Given the description of an element on the screen output the (x, y) to click on. 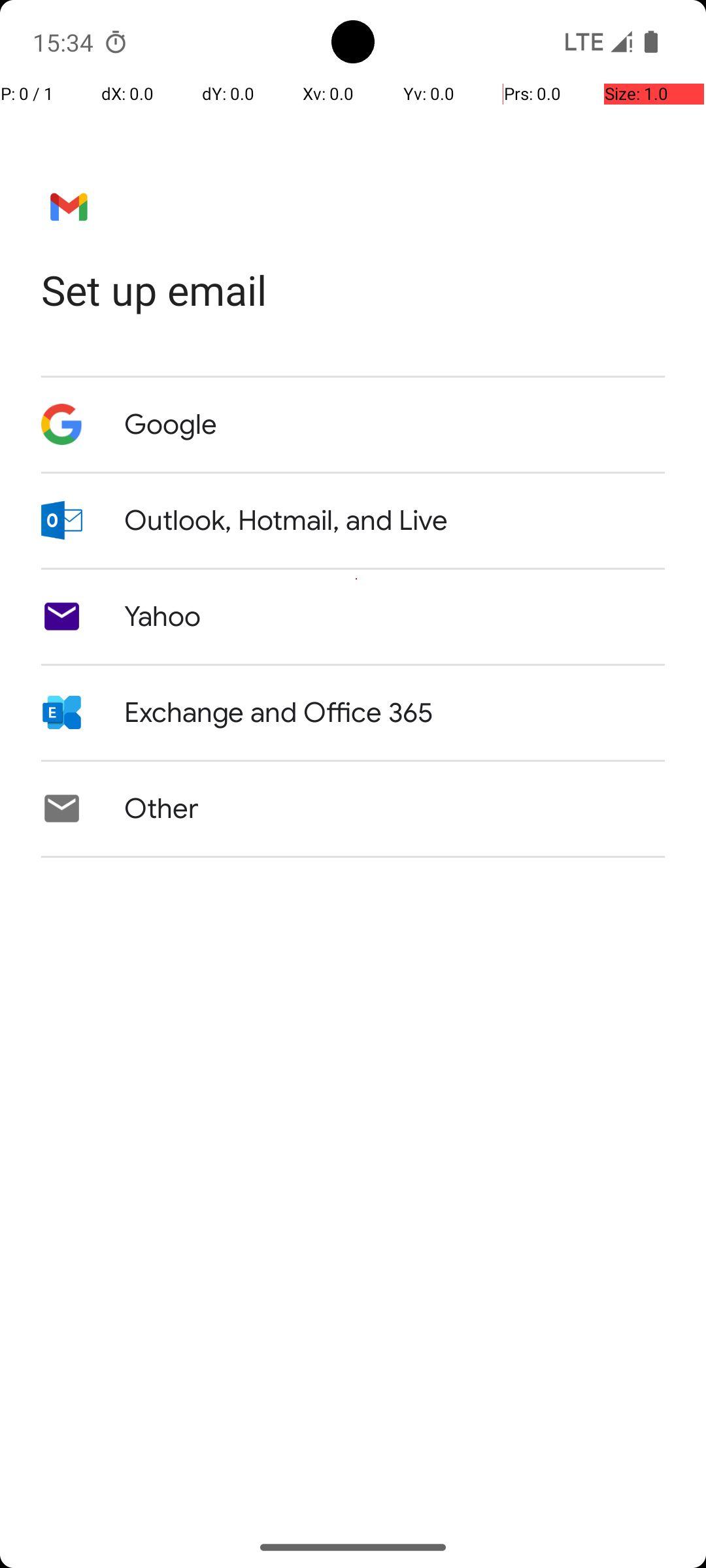
Set up email Element type: android.widget.TextView (352, 289)
Google Element type: android.widget.TextView (170, 424)
Outlook, Hotmail, and Live Element type: android.widget.TextView (286, 520)
Exchange and Office 365 Element type: android.widget.TextView (278, 712)
